Given the description of an element on the screen output the (x, y) to click on. 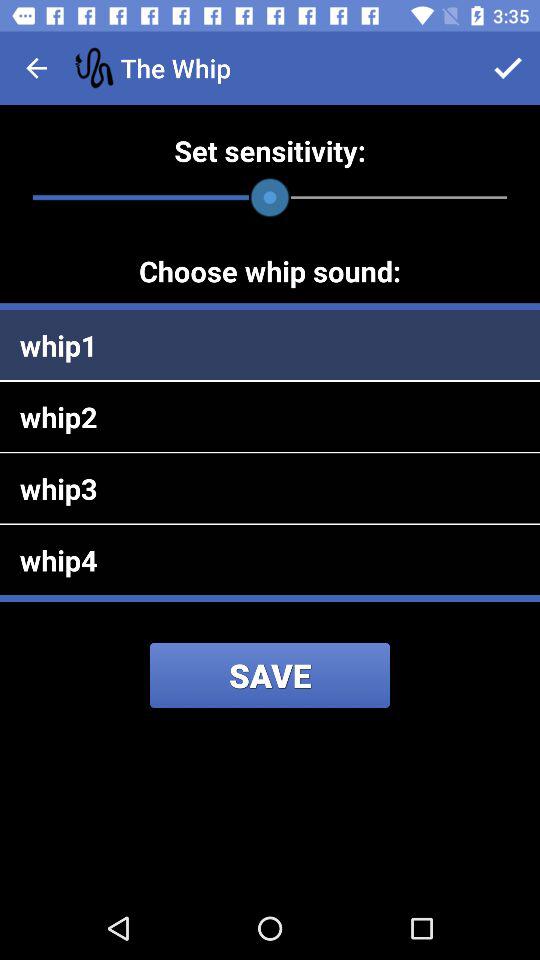
press app to the right of the whip (508, 67)
